Given the description of an element on the screen output the (x, y) to click on. 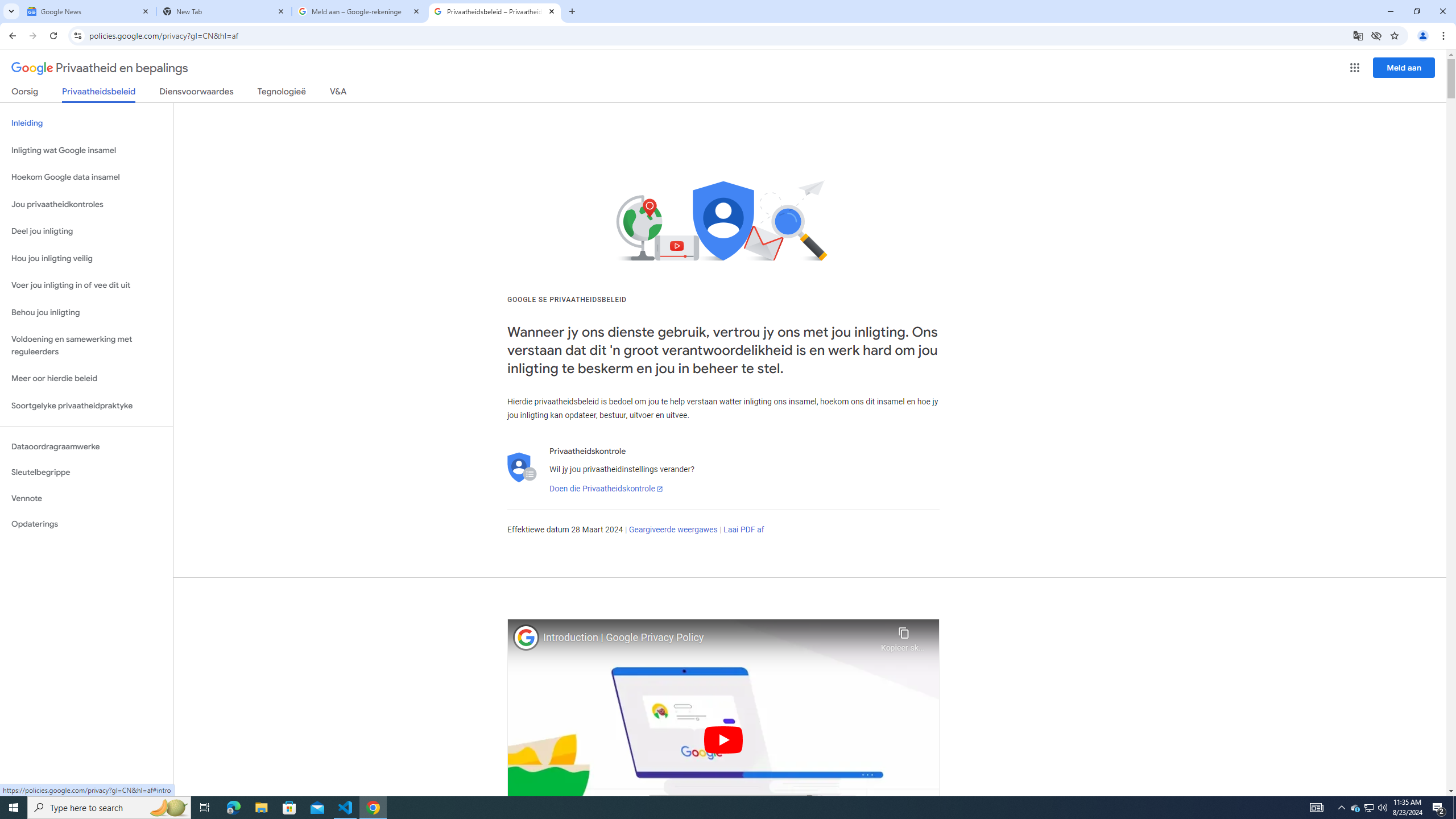
Deel jou inligting (86, 230)
Google-programme (1355, 67)
Google News (88, 11)
Voer jou inligting in of vee dit uit (86, 284)
Oorsig (25, 93)
Hoekom Google data insamel (86, 176)
Behou jou inligting (86, 312)
